Given the description of an element on the screen output the (x, y) to click on. 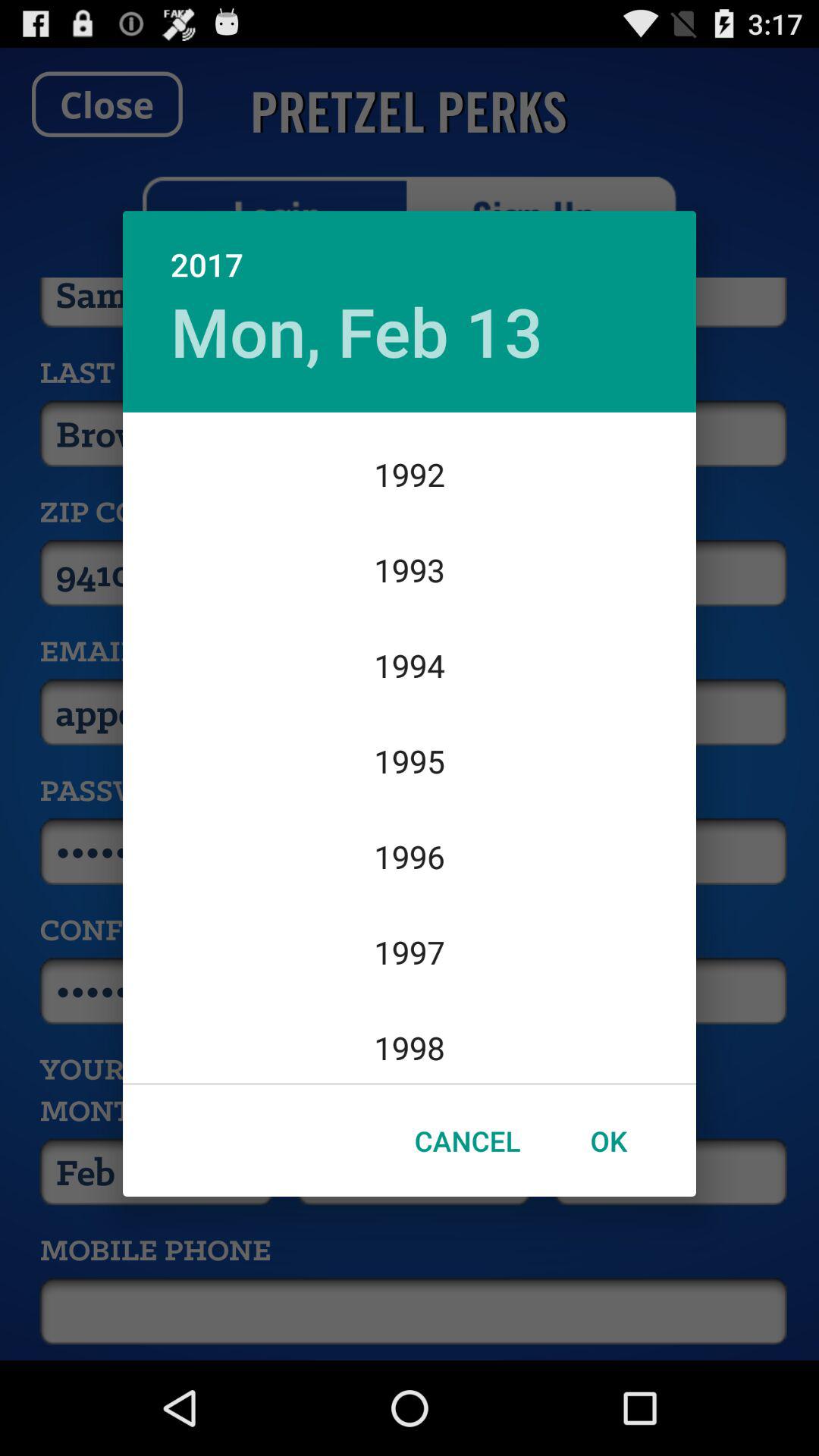
turn on item to the right of the cancel (608, 1140)
